Given the description of an element on the screen output the (x, y) to click on. 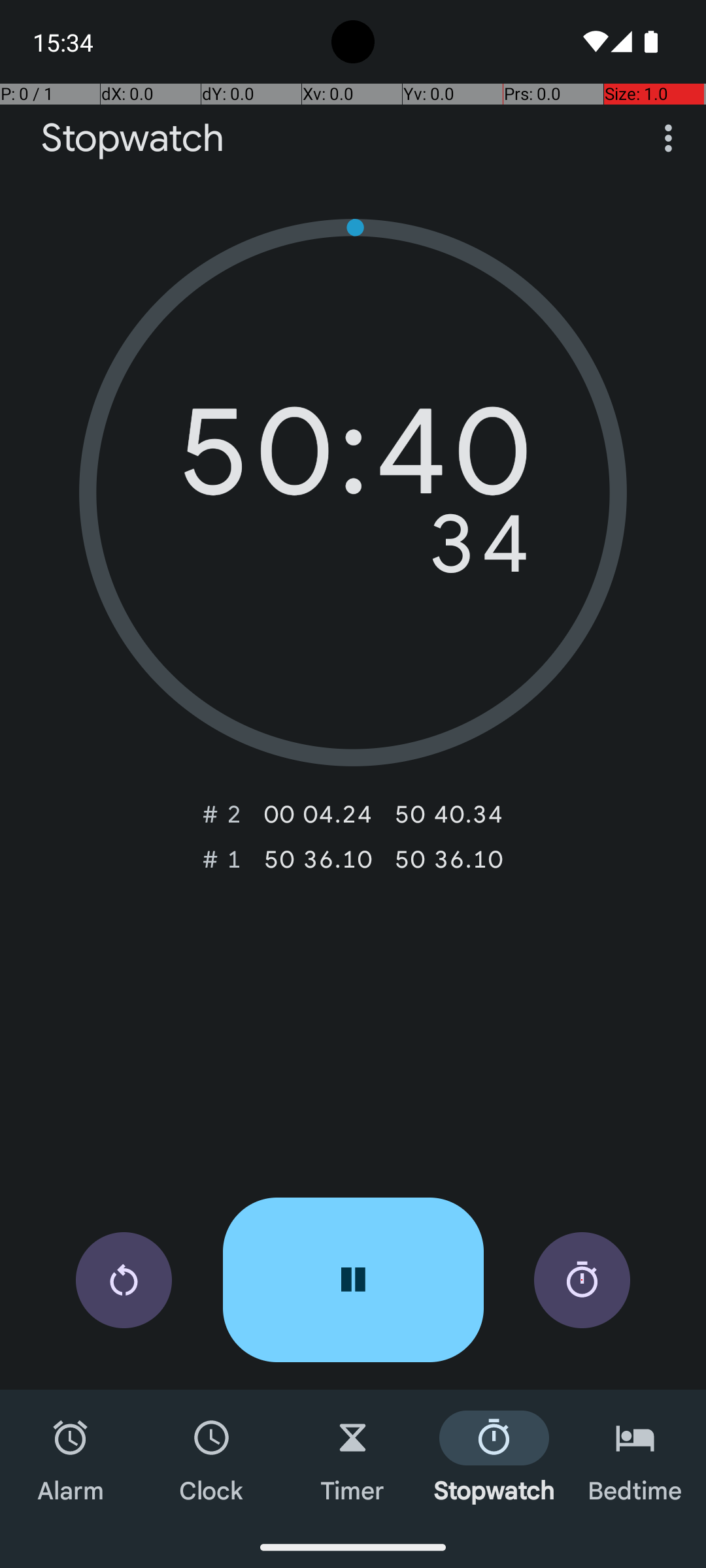
Lap Element type: android.widget.ImageButton (582, 1280)
50:40 Element type: android.widget.TextView (352, 460)
# 2 Element type: android.widget.TextView (221, 814)
00‎ 04.30 Element type: android.widget.TextView (317, 814)
50‎ 40.40 Element type: android.widget.TextView (448, 814)
# 1 Element type: android.widget.TextView (221, 859)
50‎ 36.10 Element type: android.widget.TextView (317, 859)
Wifi signal full. Element type: android.widget.FrameLayout (593, 41)
